Given the description of an element on the screen output the (x, y) to click on. 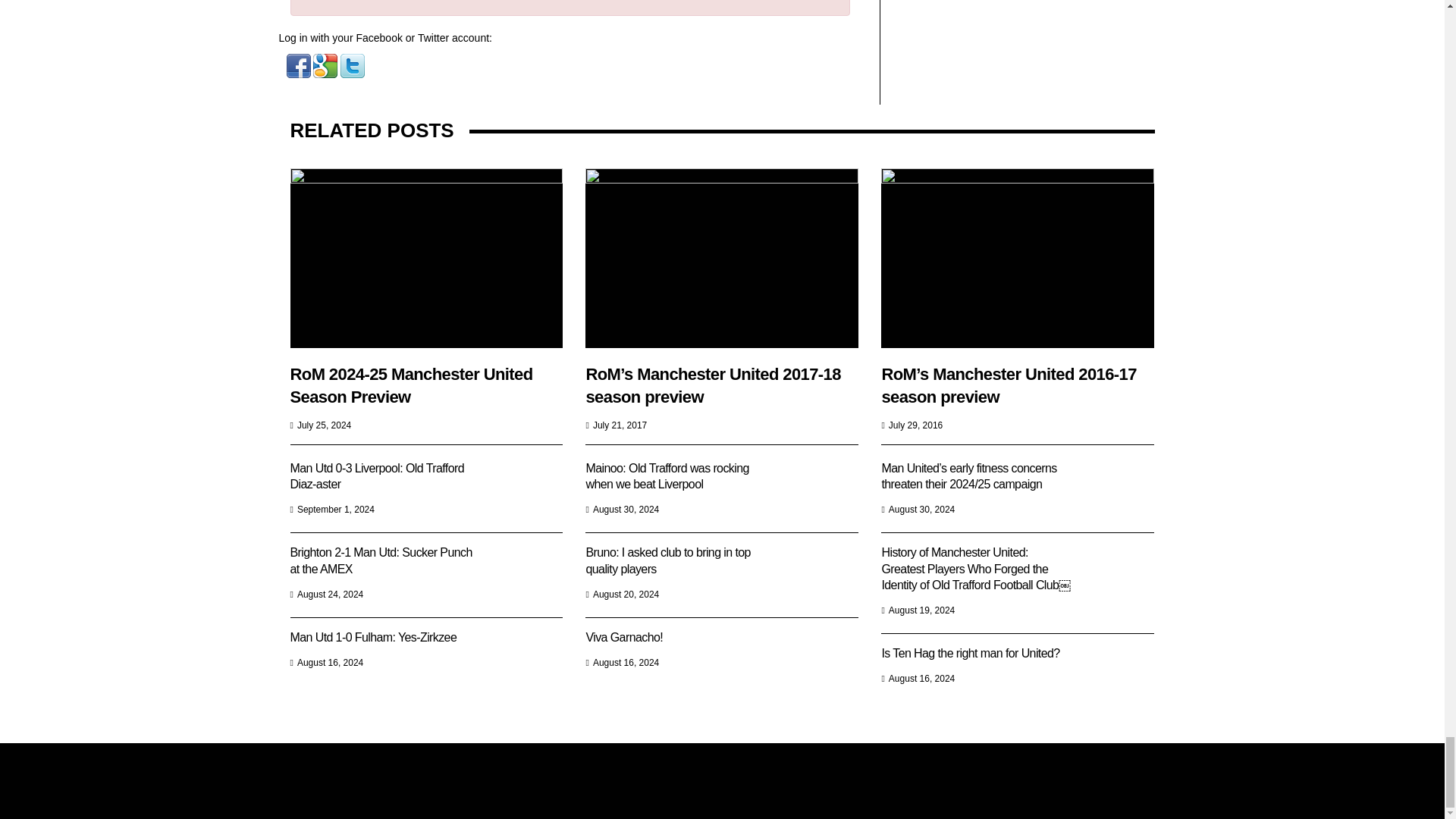
RoM 2024-25 Manchester United Season Preview (425, 258)
Connect with Google (326, 64)
Connect with Twitter (352, 64)
Connect with Facebook (300, 64)
